Given the description of an element on the screen output the (x, y) to click on. 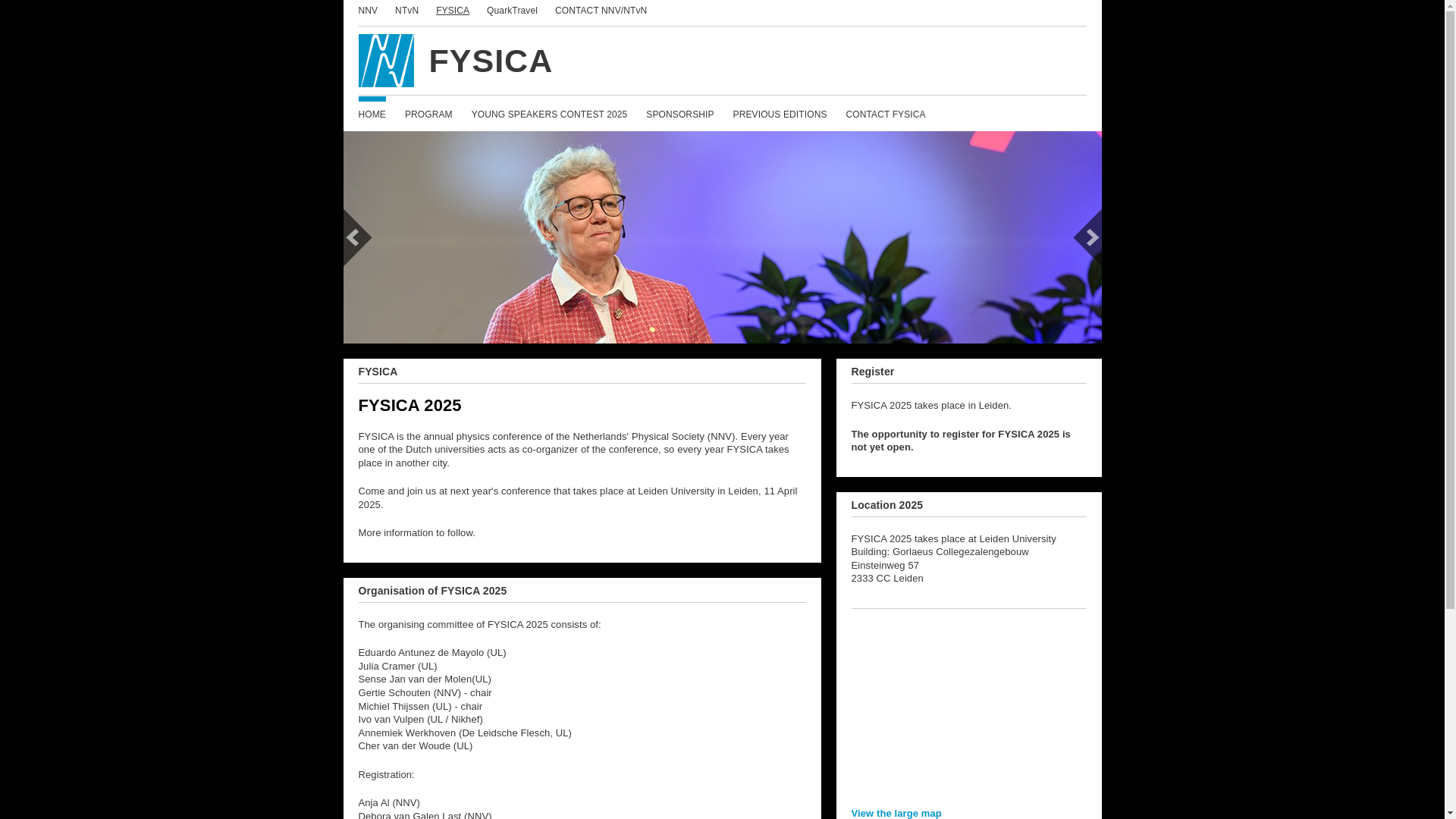
QuarkTravel (511, 10)
View the large map (895, 813)
CONTACT FYSICA (884, 113)
PROGRAM (428, 113)
FYSICA (451, 10)
SPONSORSHIP (679, 113)
PREVIOUS EDITIONS (780, 113)
NNV (367, 10)
FYSICA (722, 60)
NTvN (406, 10)
